Given the description of an element on the screen output the (x, y) to click on. 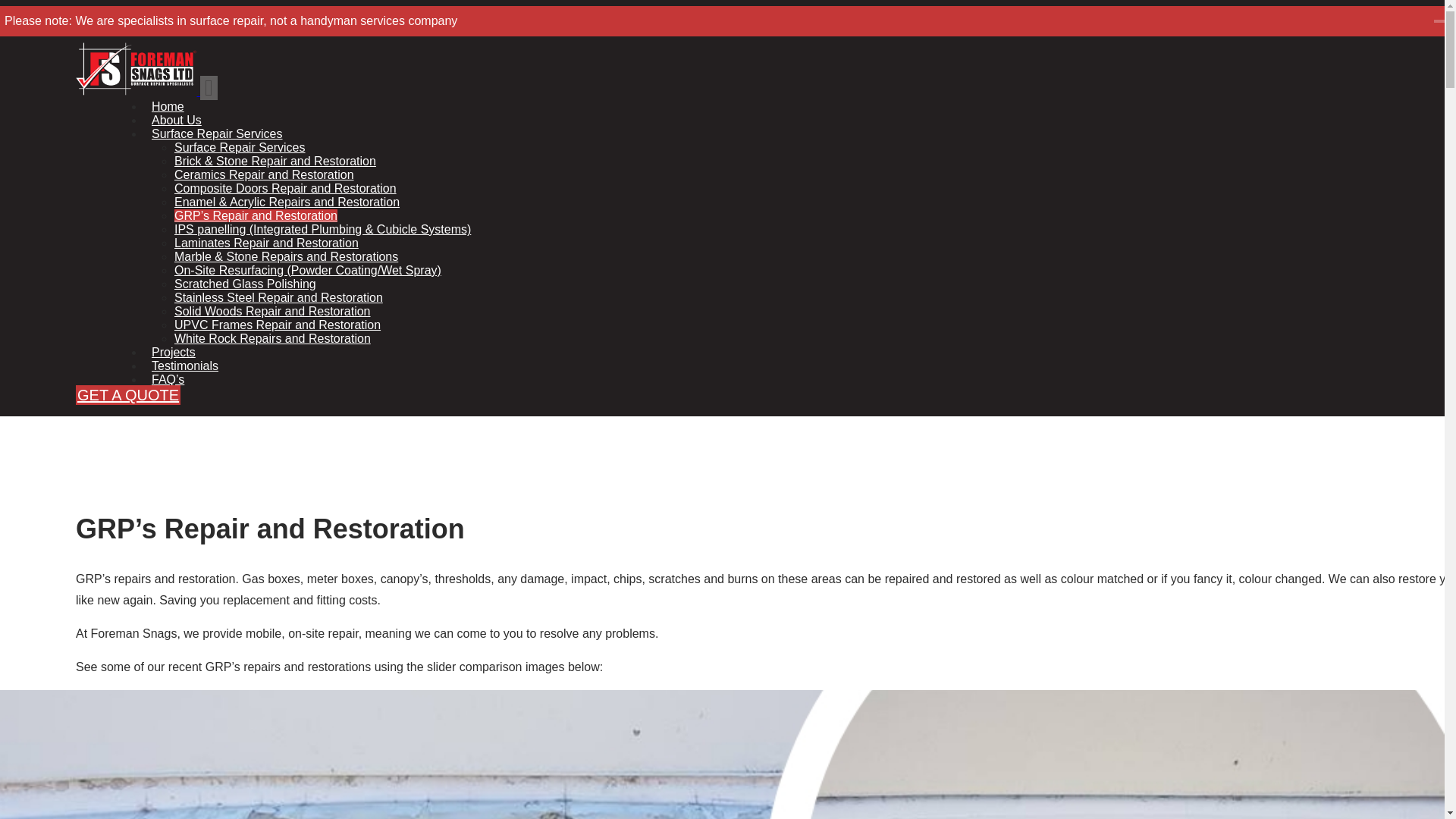
White Rock Repairs and Restoration (272, 338)
UPVC Frames Repair and Restoration (277, 324)
Scratched Glass Polishing (244, 283)
Home (167, 106)
About Us (176, 119)
Testimonials (184, 365)
Composite Doors Repair and Restoration (285, 187)
Ceramics Repair and Restoration (263, 174)
Solid Woods Repair and Restoration (272, 310)
Surface Repair Services (239, 146)
GET A QUOTE (127, 394)
Projects (173, 351)
Laminates Repair and Restoration (266, 242)
Stainless Steel Repair and Restoration (278, 297)
Surface Repair Services (216, 133)
